Given the description of an element on the screen output the (x, y) to click on. 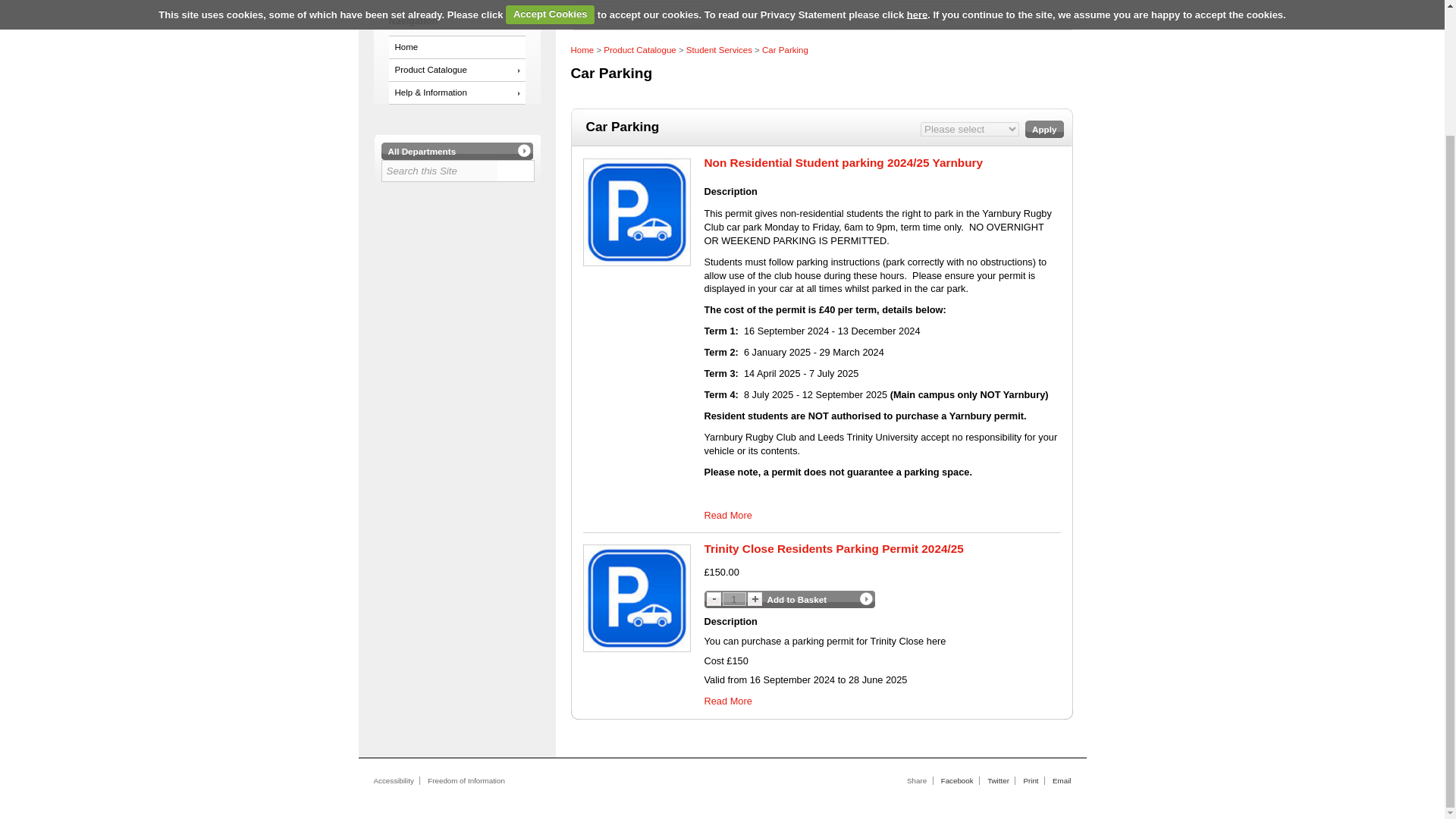
Accessibility (392, 780)
Freedom of Information (466, 780)
Home (456, 47)
Product Catalogue (456, 69)
1 (733, 599)
All Departments (456, 150)
Search this Site (439, 170)
Search this Site (439, 170)
